Given the description of an element on the screen output the (x, y) to click on. 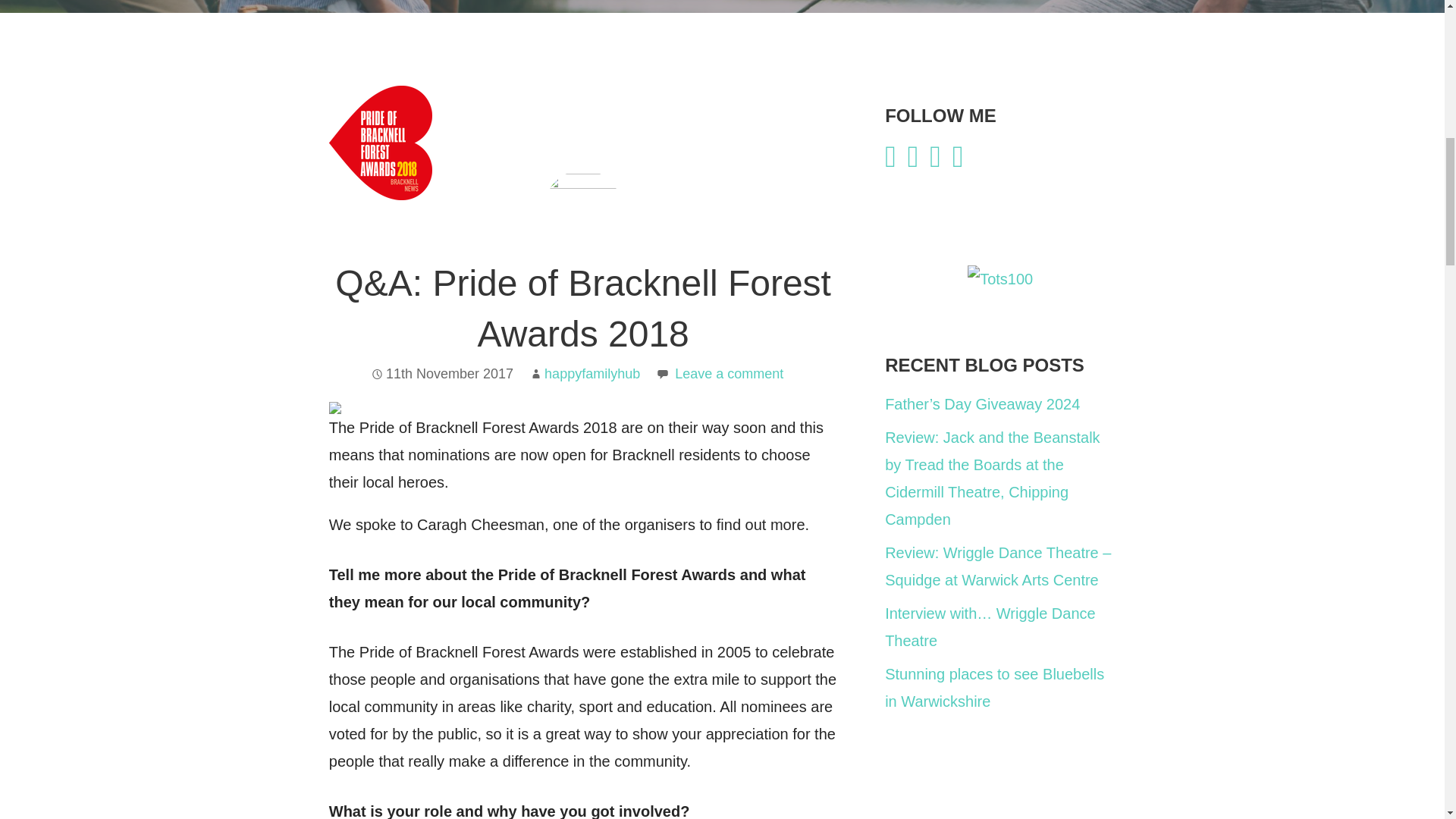
Posts by happyfamilyhub (592, 373)
Visit Happy Family Hub on Twitter (935, 161)
Visit Happy Family Hub on Facebook (890, 161)
happyfamilyhub (592, 373)
Leave a comment (729, 373)
Visit Happy Family Hub on Instagram (912, 161)
Tots100 (1000, 278)
Tots100 (1000, 279)
Visit Happy Family Hub on Pinterest (957, 161)
